Given the description of an element on the screen output the (x, y) to click on. 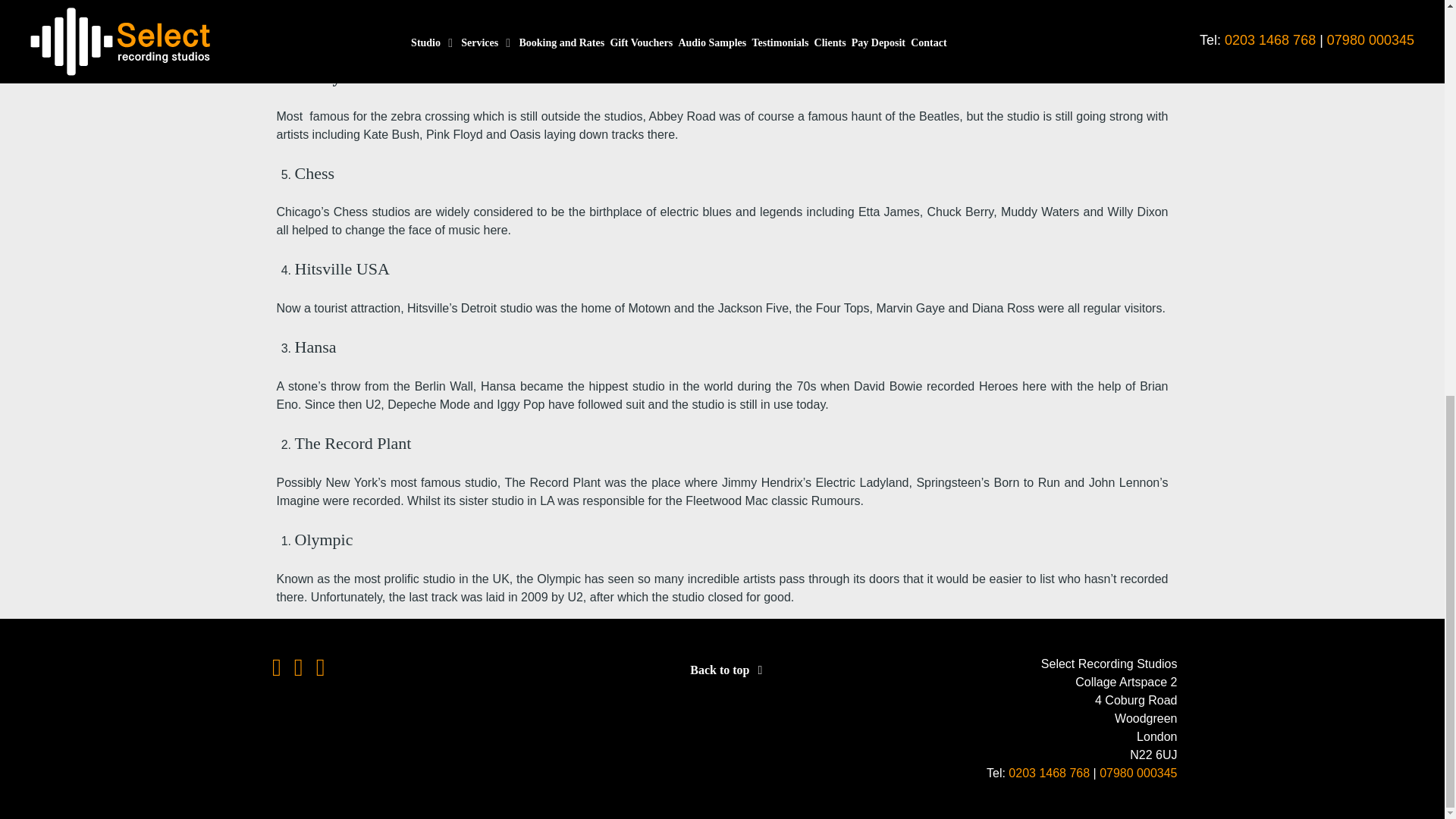
Back to top (728, 669)
0203 1468 768 (1049, 772)
07980 000345 (1137, 772)
